Given the description of an element on the screen output the (x, y) to click on. 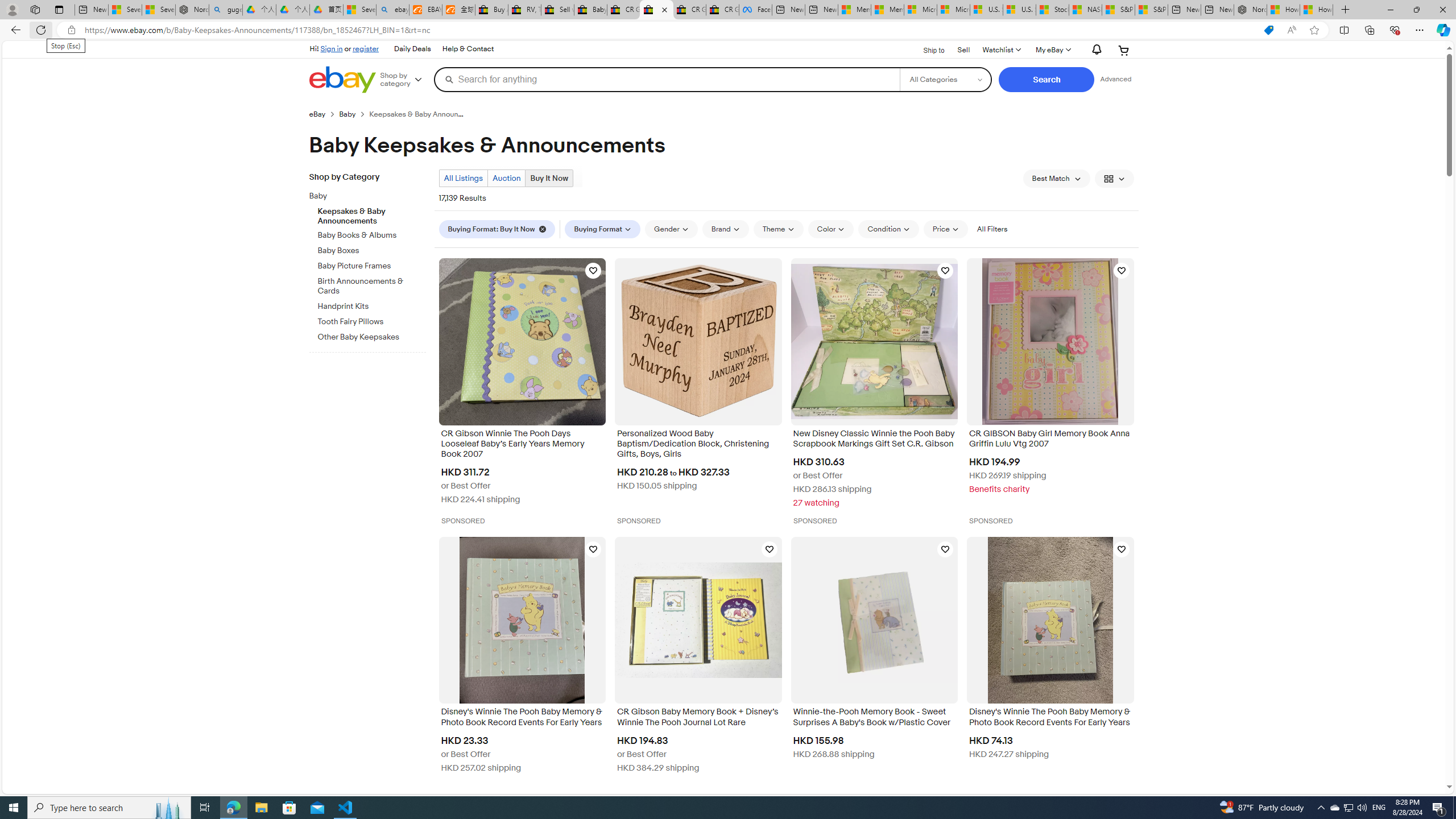
eBay Home (341, 79)
Read aloud this page (Ctrl+Shift+U) (1291, 29)
Buy Auto Parts & Accessories | eBay (491, 9)
Baby Picture Frames (371, 263)
View: Gallery View (1114, 178)
Copilot (Ctrl+Shift+.) (1442, 29)
Search (1046, 79)
Add this page to favorites (Ctrl+D) (1314, 29)
CR GIBSON Baby Girl Memory Book Anna Griffin Lulu Vtg 2007 (1050, 440)
Baby (371, 194)
